Given the description of an element on the screen output the (x, y) to click on. 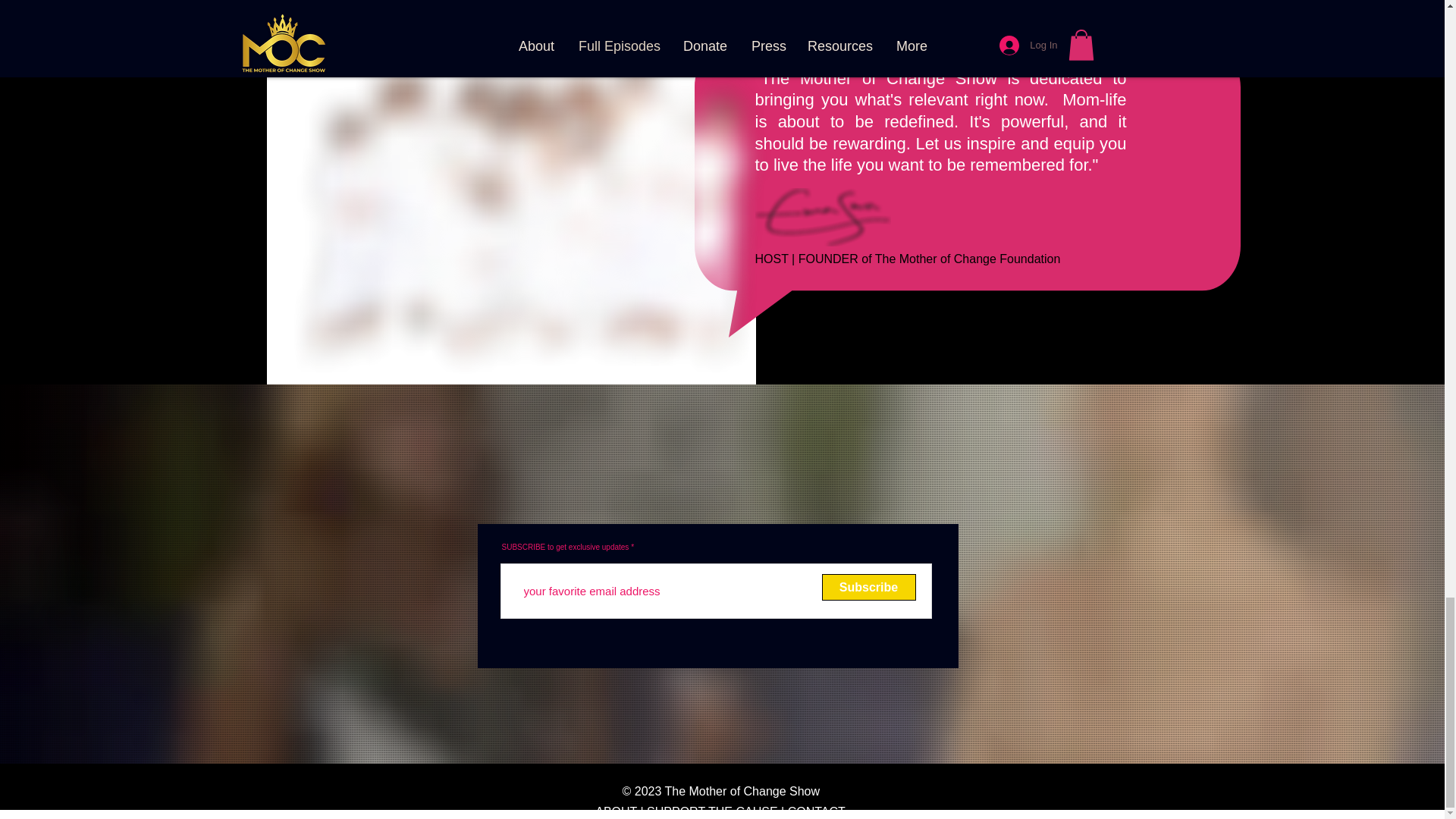
Subscribe (868, 587)
CONTACT (816, 811)
